Given the description of an element on the screen output the (x, y) to click on. 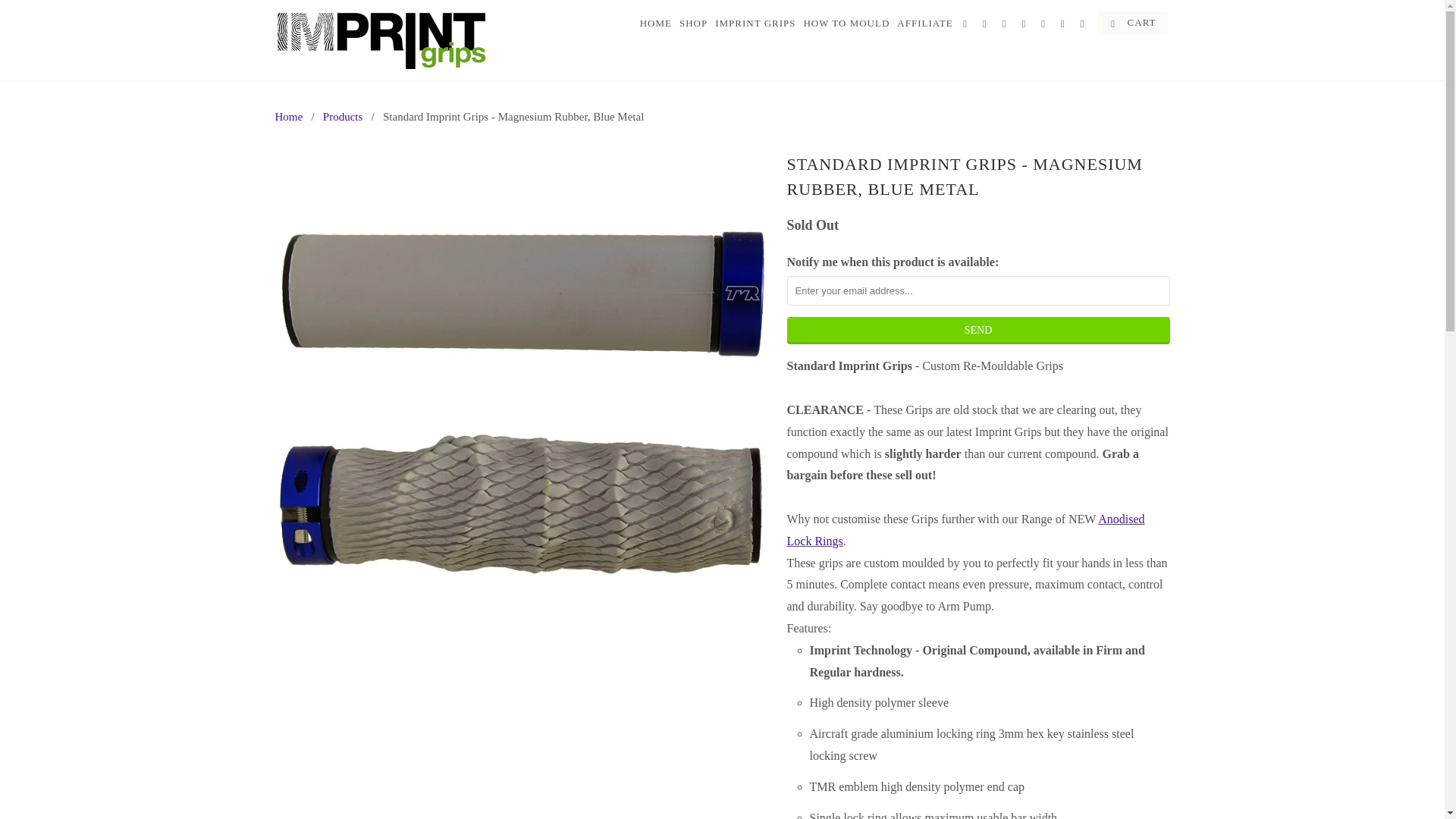
Send (978, 329)
Home (288, 116)
Imprint Grips (288, 116)
Anodised Lock Rings (965, 529)
Products (342, 116)
Products (342, 116)
Send (978, 329)
